Given the description of an element on the screen output the (x, y) to click on. 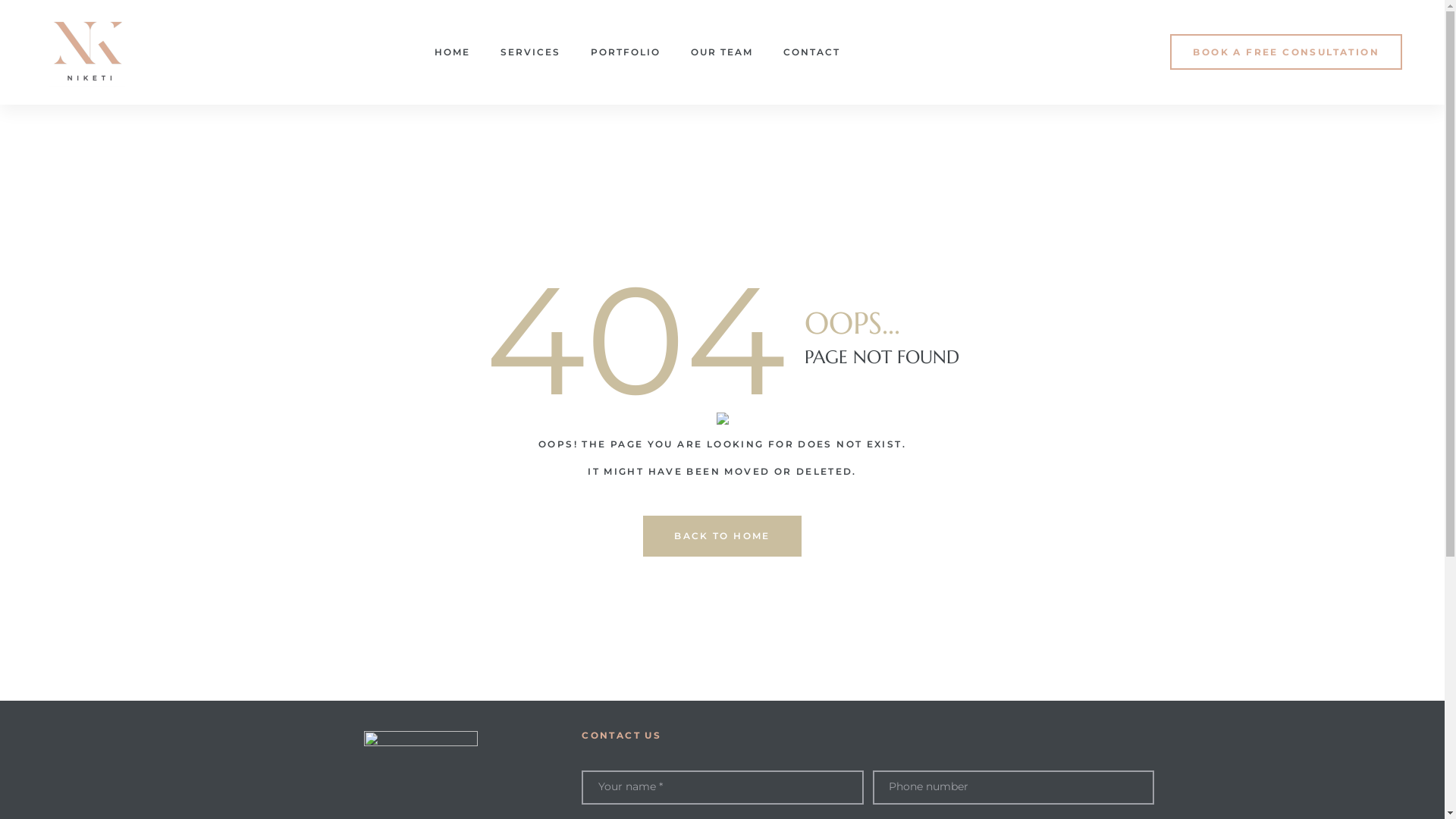
BOOK A FREE CONSULTATION Element type: text (1286, 51)
CONTACT Element type: text (811, 52)
PORTFOLIO Element type: text (625, 52)
SERVICES Element type: text (530, 52)
HOME Element type: text (452, 52)
BACK TO HOME Element type: text (722, 535)
OUR TEAM Element type: text (721, 52)
